Given the description of an element on the screen output the (x, y) to click on. 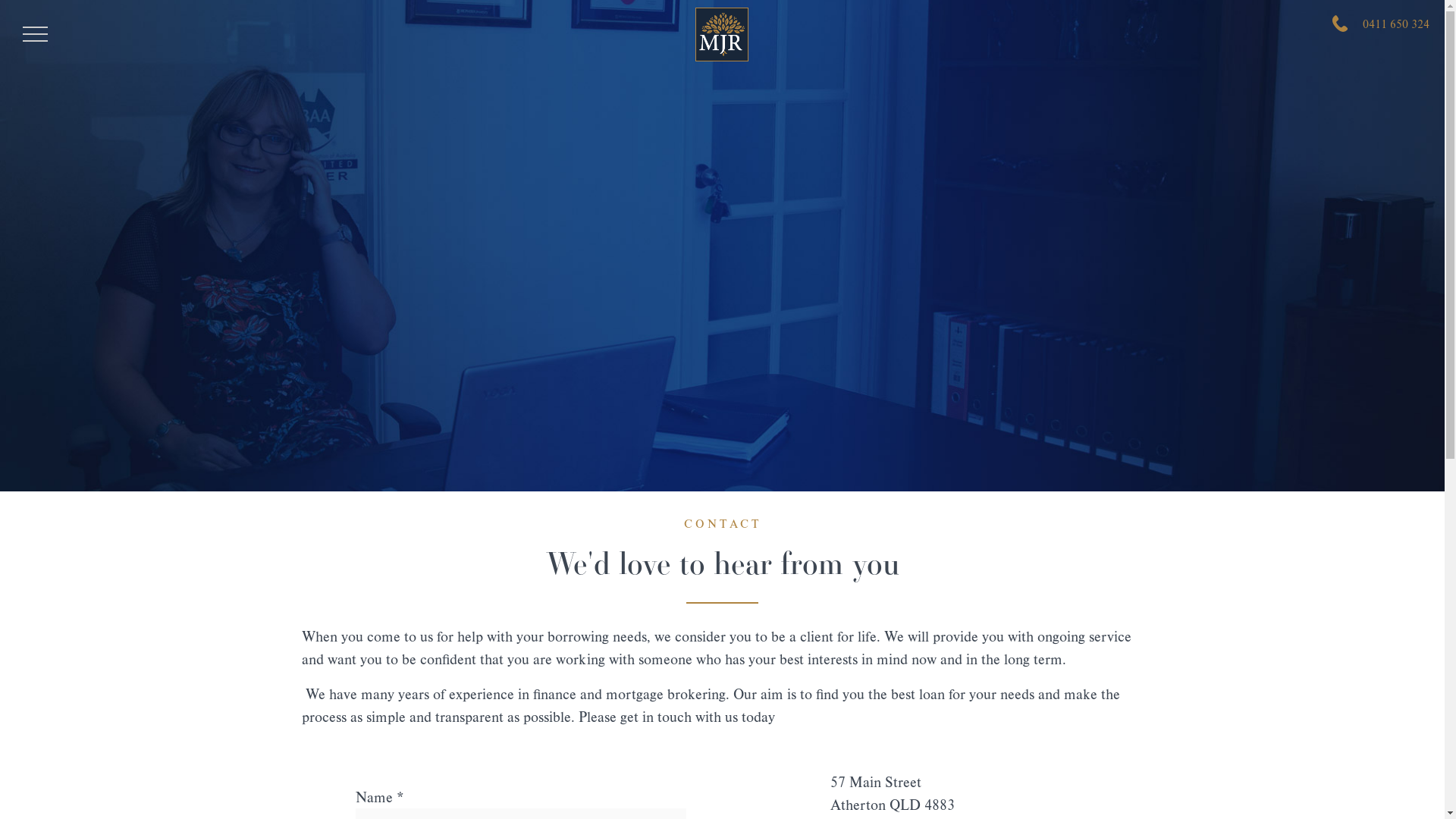
0411 650 324 Element type: text (1380, 23)
